Given the description of an element on the screen output the (x, y) to click on. 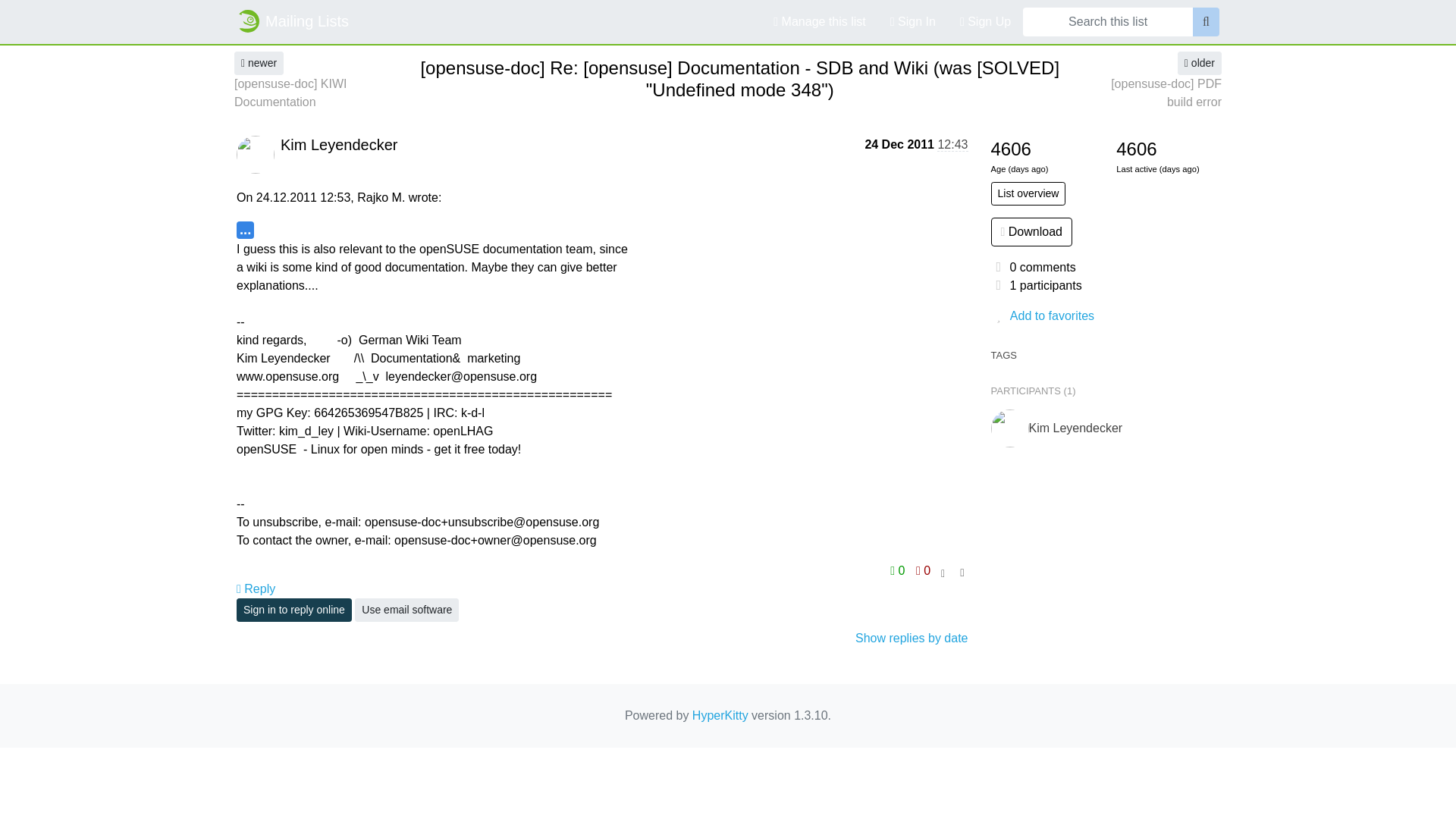
Reply (255, 588)
You must be logged-in to have favorites. (1105, 316)
Mailing Lists (292, 20)
Sender's time: Dec. 24, 2011, 1:43 p.m. (952, 144)
Sign In (912, 21)
You must be logged-in to vote. (899, 570)
This thread in gzipped mbox format (1030, 231)
Sign Up (985, 21)
Manage this list (819, 21)
You must be logged-in to vote. (923, 570)
openSUSE Mailing Lists (292, 20)
